Given the description of an element on the screen output the (x, y) to click on. 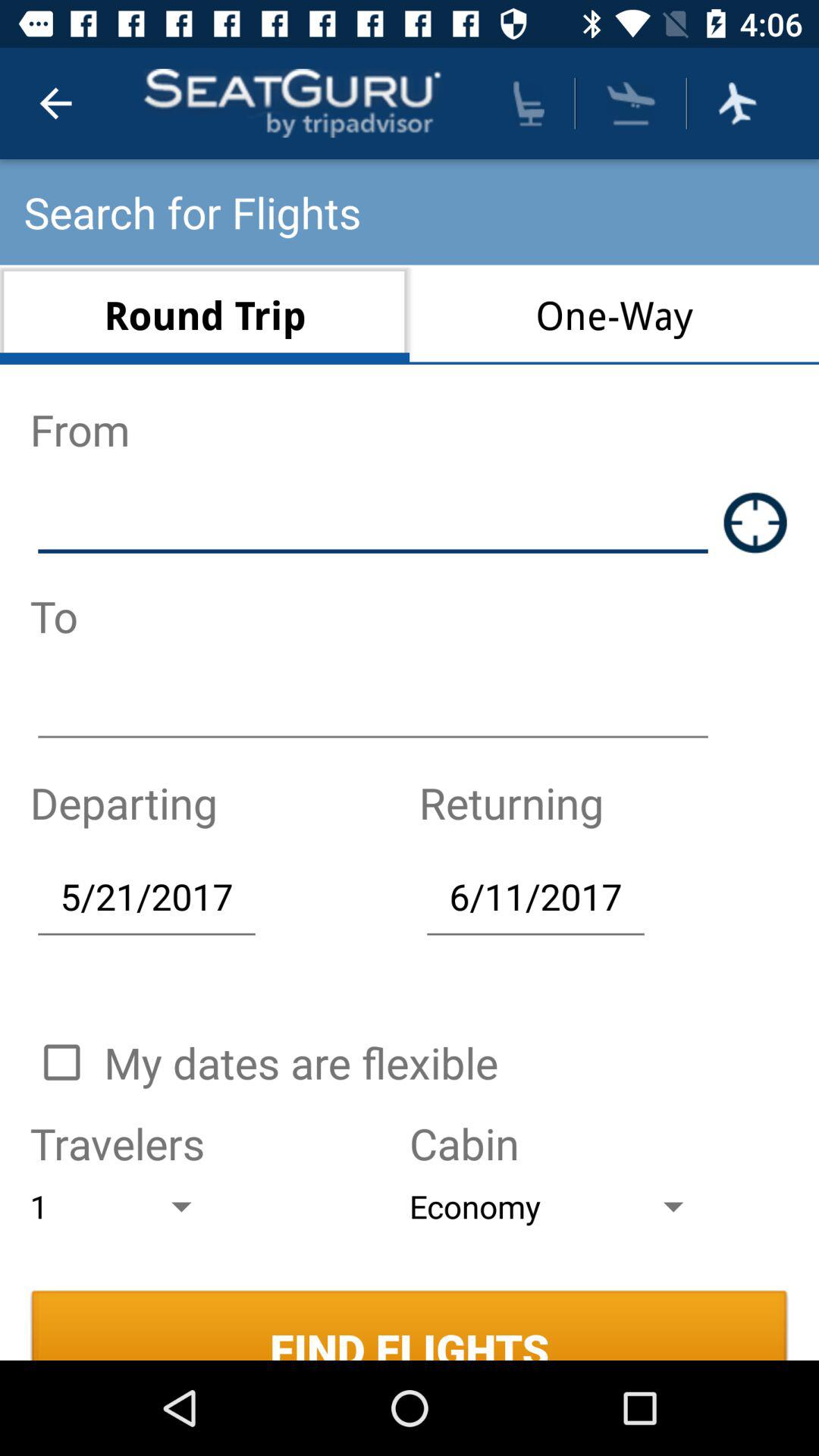
find seat (528, 103)
